Given the description of an element on the screen output the (x, y) to click on. 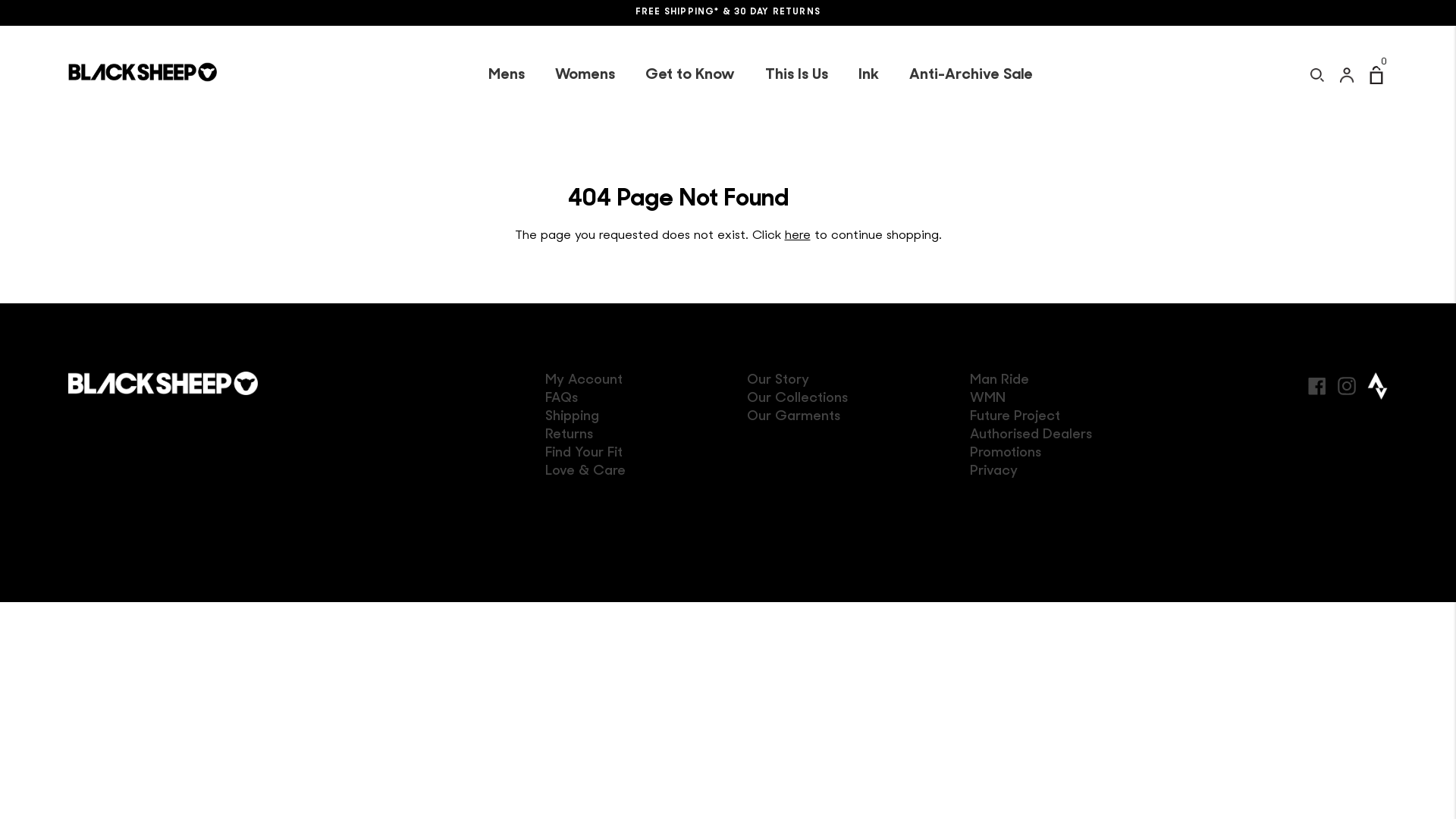
Ink Element type: text (868, 74)
Privacy Element type: text (992, 471)
Man Ride Element type: text (998, 380)
Our Garments Element type: text (793, 416)
Get to Know Element type: text (689, 74)
WMN Element type: text (986, 398)
Black Sheep Cycling on Strava Element type: hover (1377, 385)
Womens Element type: text (584, 74)
Black Sheep Cycling on Facebook Element type: hover (1317, 383)
Black Sheep Cycling on Instagram Element type: hover (1346, 383)
My Account Element type: text (583, 380)
Our Story Element type: text (777, 380)
Anti-Archive Sale Element type: text (970, 74)
Authorised Dealers Element type: text (1030, 434)
FREE SHIPPING* & 30 DAY RETURNS Element type: text (727, 12)
Shipping Element type: text (572, 416)
FAQs Element type: text (561, 398)
here Element type: text (796, 235)
Promotions Element type: text (1004, 452)
Future Project Element type: text (1014, 416)
Our Collections Element type: text (796, 398)
Returns Element type: text (569, 434)
Find Your Fit Element type: text (583, 452)
Mens Element type: text (506, 74)
0 Element type: text (1376, 73)
This Is Us Element type: text (795, 74)
Love & Care Element type: text (585, 471)
